Given the description of an element on the screen output the (x, y) to click on. 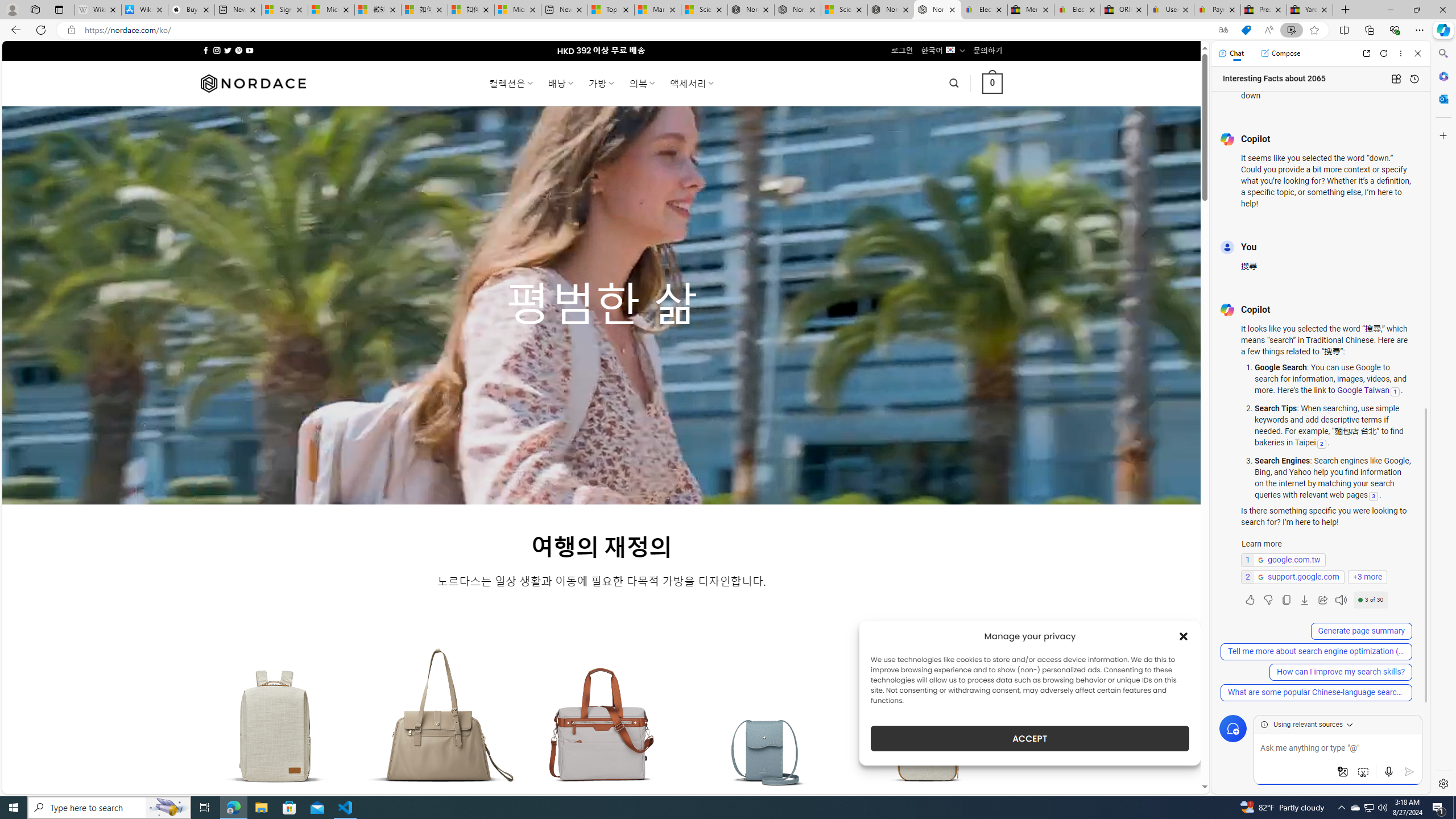
Enhance video (1291, 29)
Payments Terms of Use | eBay.com (1216, 9)
Class: cmplz-close (1183, 636)
